Given the description of an element on the screen output the (x, y) to click on. 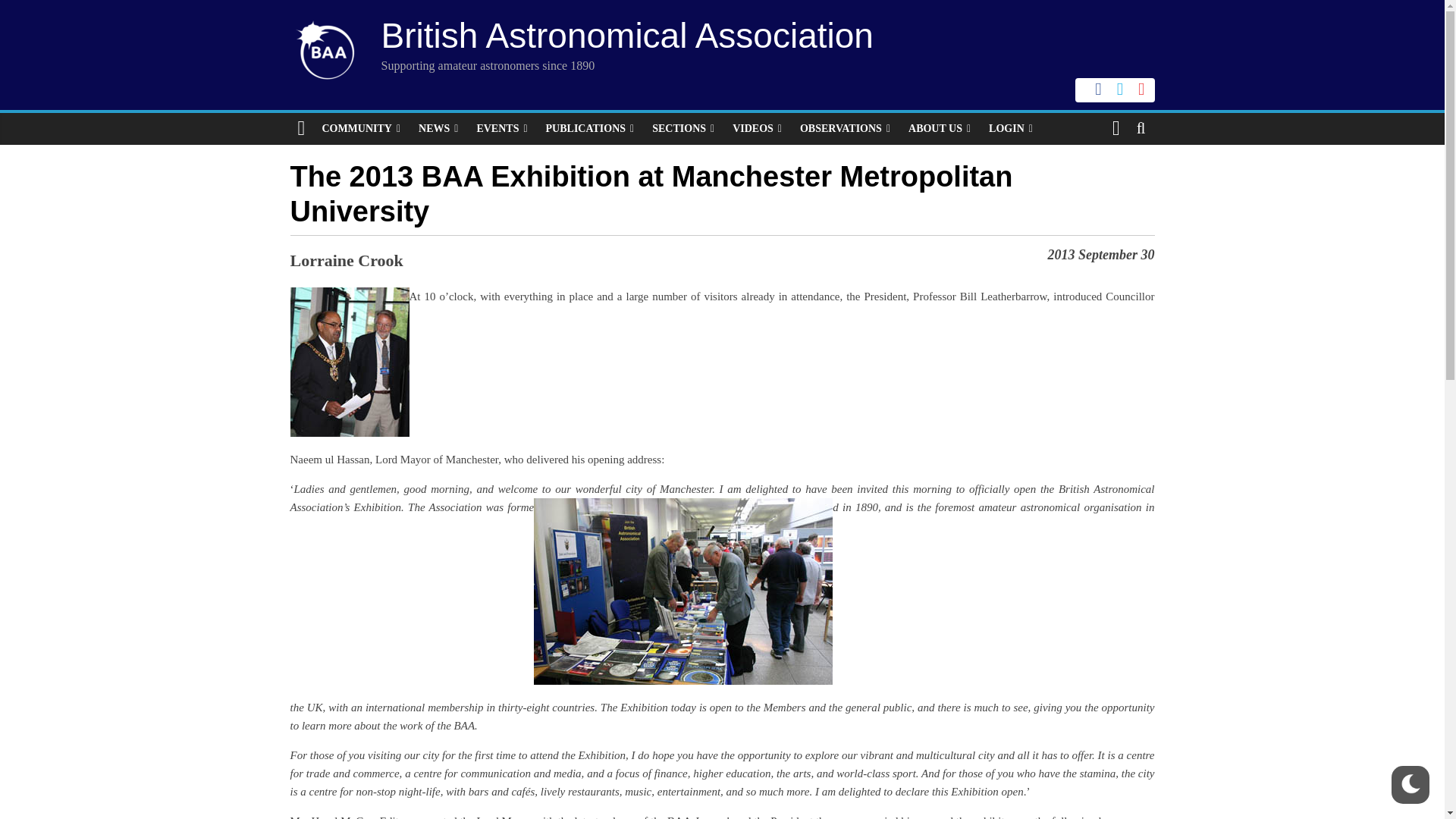
COMMUNITY (361, 128)
British Astronomical Association (626, 35)
NEWS (438, 128)
SECTIONS (683, 128)
EVENTS (501, 128)
PUBLICATIONS (590, 128)
British Astronomical Association (626, 35)
